Given the description of an element on the screen output the (x, y) to click on. 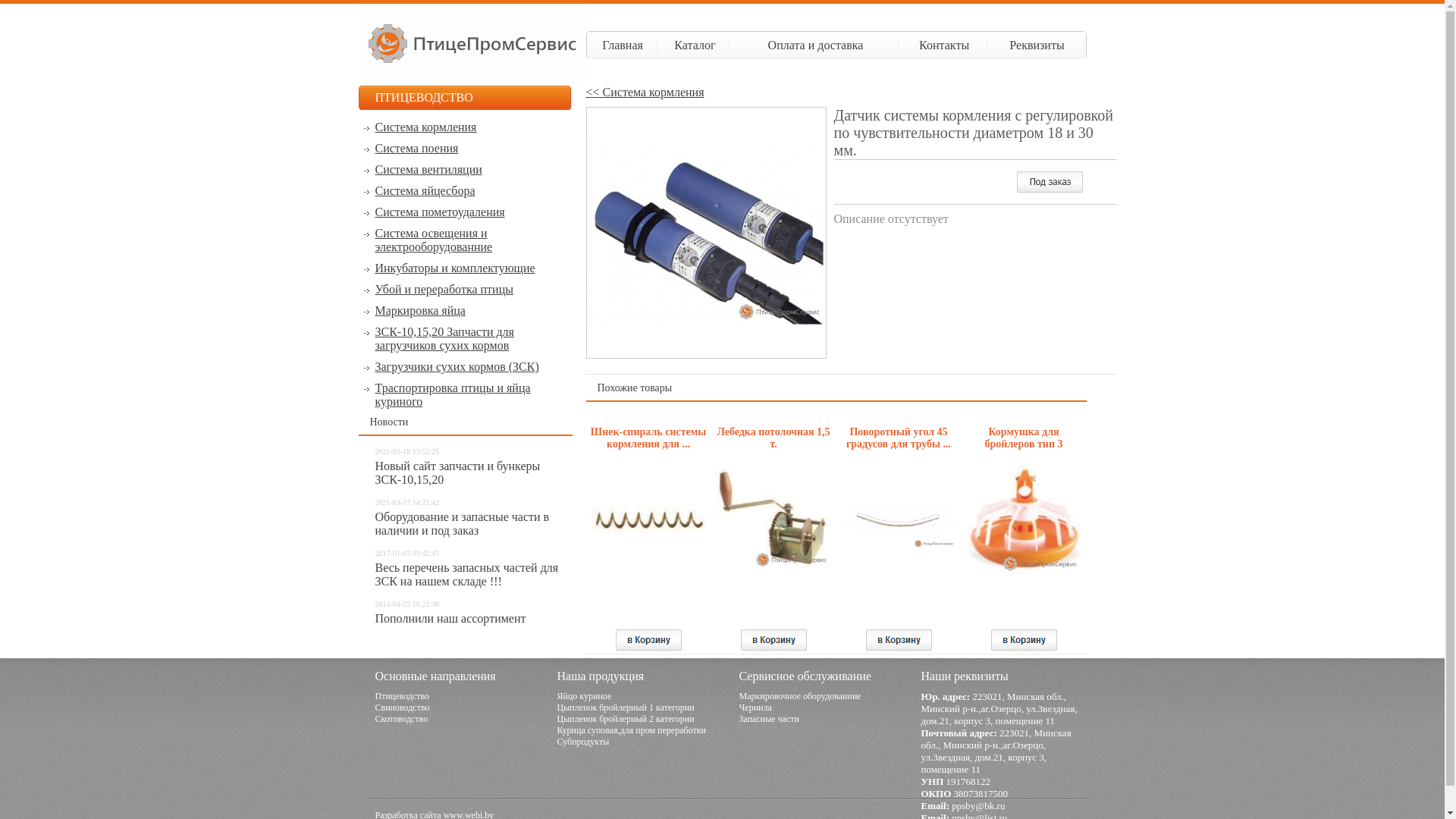
  Element type: text (648, 639)
  Element type: text (1023, 639)
  Element type: text (773, 639)
  Element type: text (898, 639)
